Given the description of an element on the screen output the (x, y) to click on. 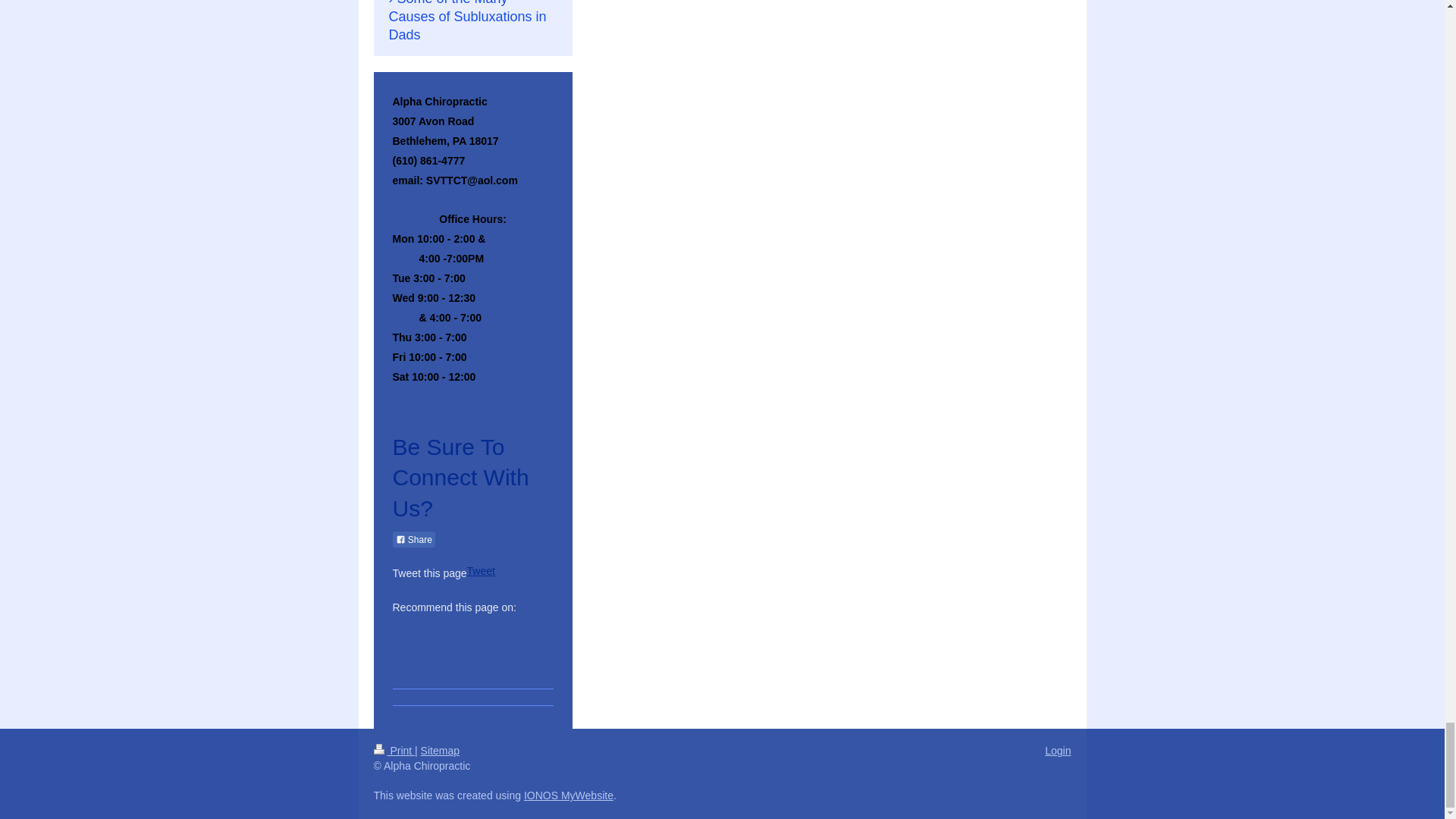
Reddit (475, 630)
Tumblr (453, 661)
Folkd (499, 630)
Delicious (430, 630)
FriendFeed (499, 661)
Diigo (475, 661)
Digg (453, 630)
Stumble Upon (430, 661)
Mister Wong (521, 630)
